Given the description of an element on the screen output the (x, y) to click on. 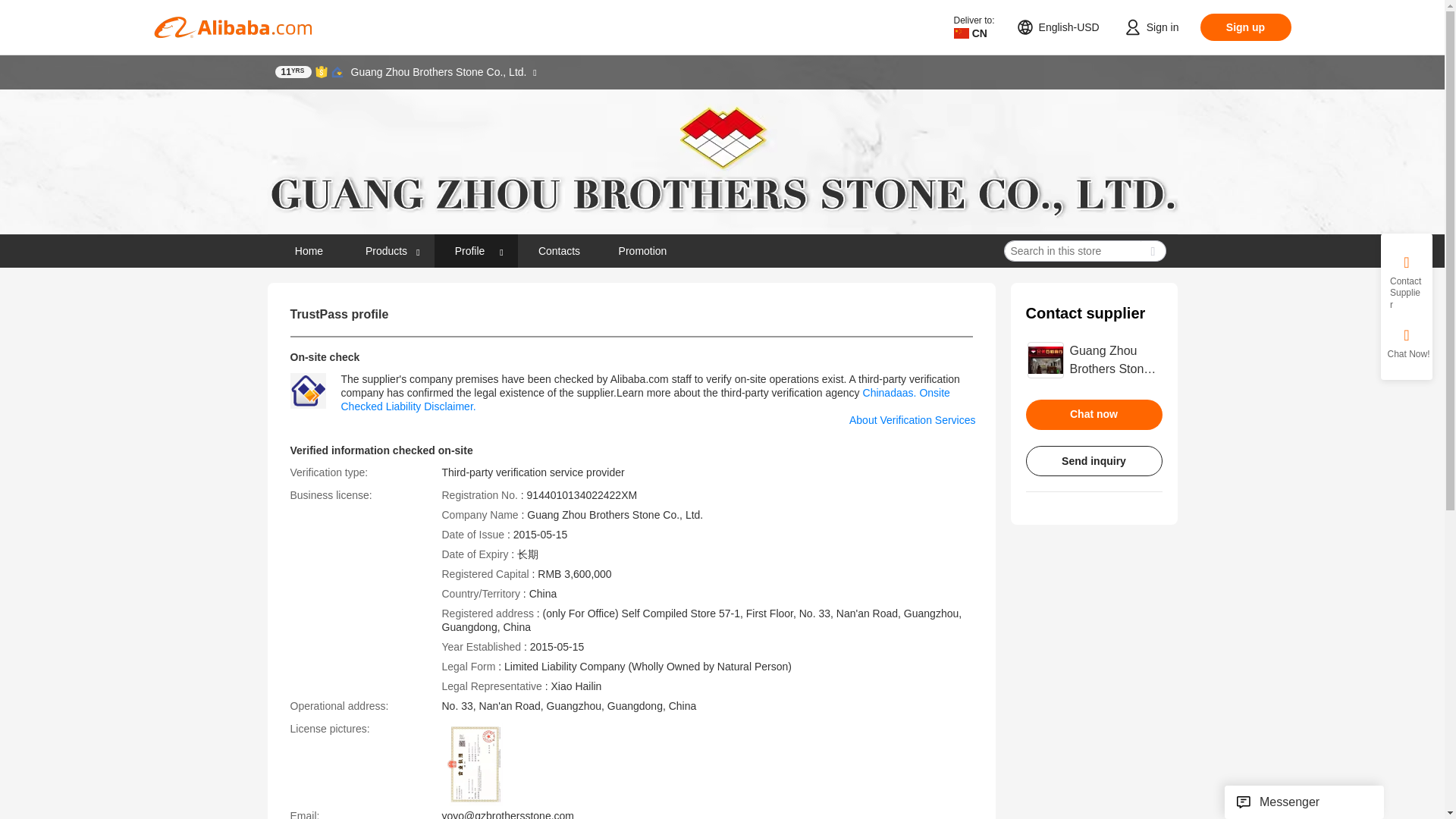
11YRS (293, 71)
What is Gold Supplier? (293, 71)
Home (308, 250)
Home (309, 250)
Products (386, 250)
Products (391, 250)
